Given the description of an element on the screen output the (x, y) to click on. 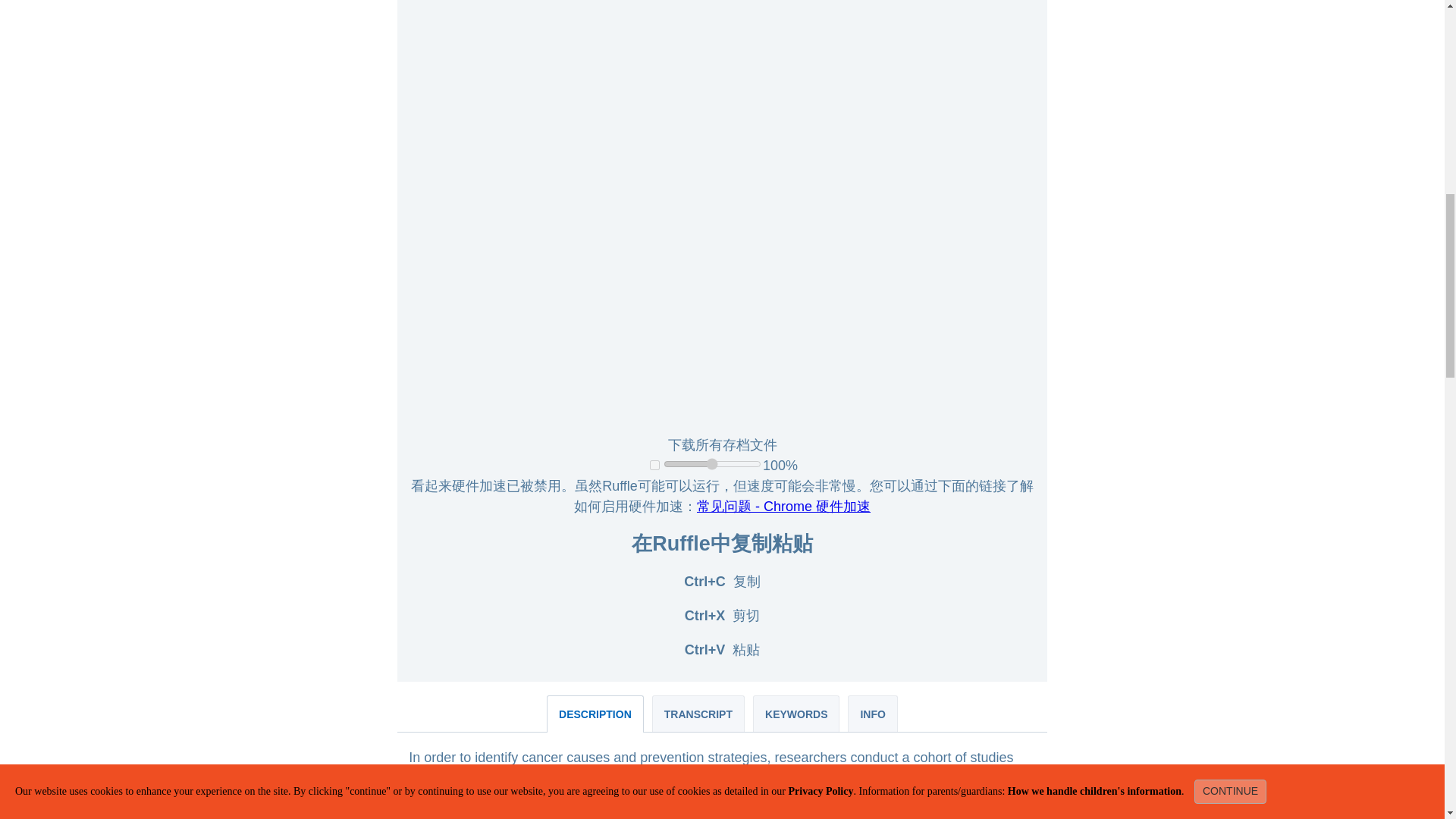
DESCRIPTION (595, 713)
